Given the description of an element on the screen output the (x, y) to click on. 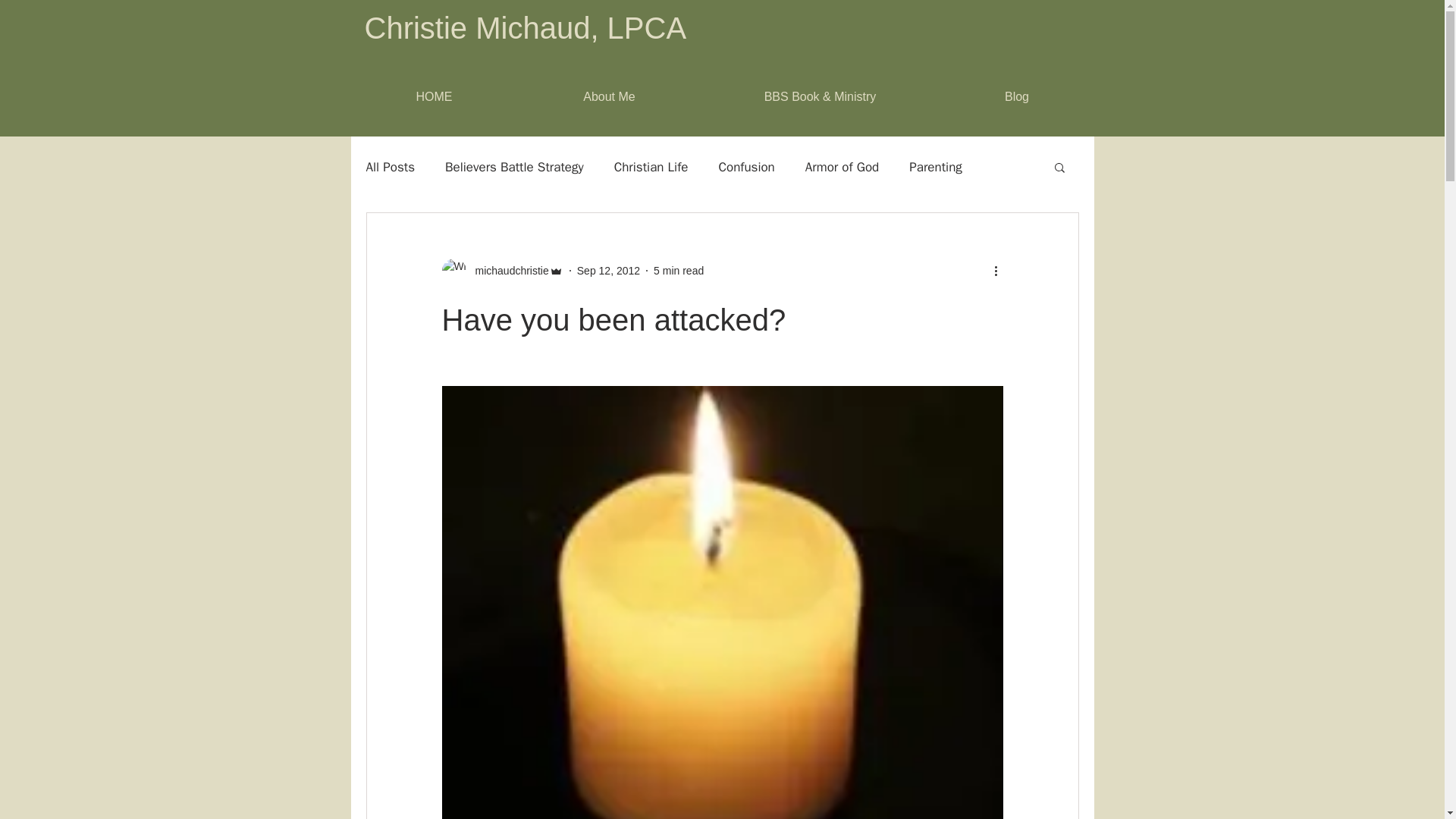
HOME (433, 96)
Blog (1016, 96)
Confusion (745, 166)
About Me (608, 96)
Christian Life (651, 166)
5 min read (678, 269)
Armor of God (842, 166)
michaudchristie (506, 270)
Believers Battle Strategy (514, 166)
Parenting (935, 166)
